Given the description of an element on the screen output the (x, y) to click on. 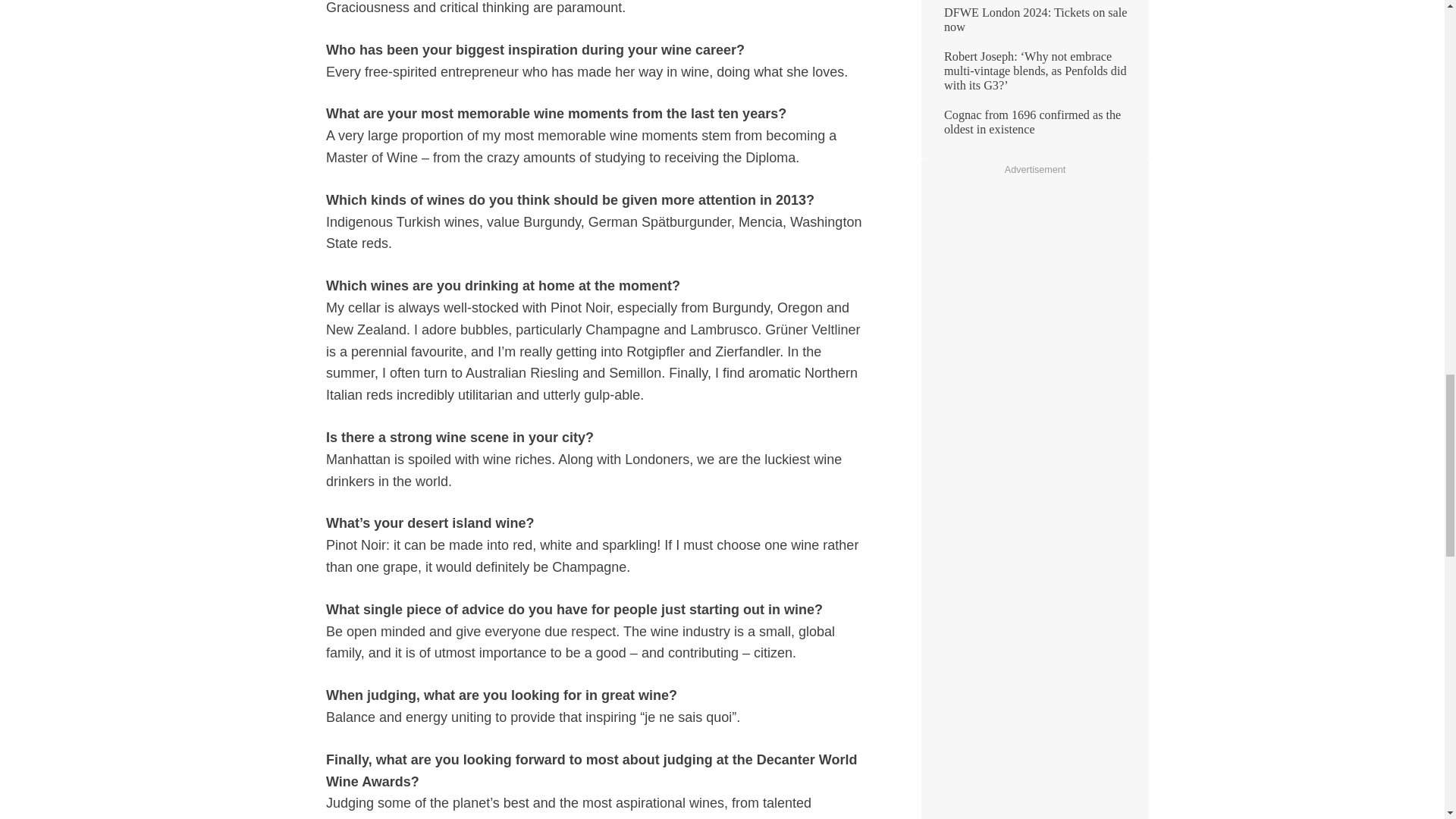
Propeller Wine comes down to earth in messy fallout (1035, 1)
DFWE London 2024: Tickets on sale now (1035, 25)
Cognac from 1696 confirmed as the oldest in existence (1035, 128)
